Given the description of an element on the screen output the (x, y) to click on. 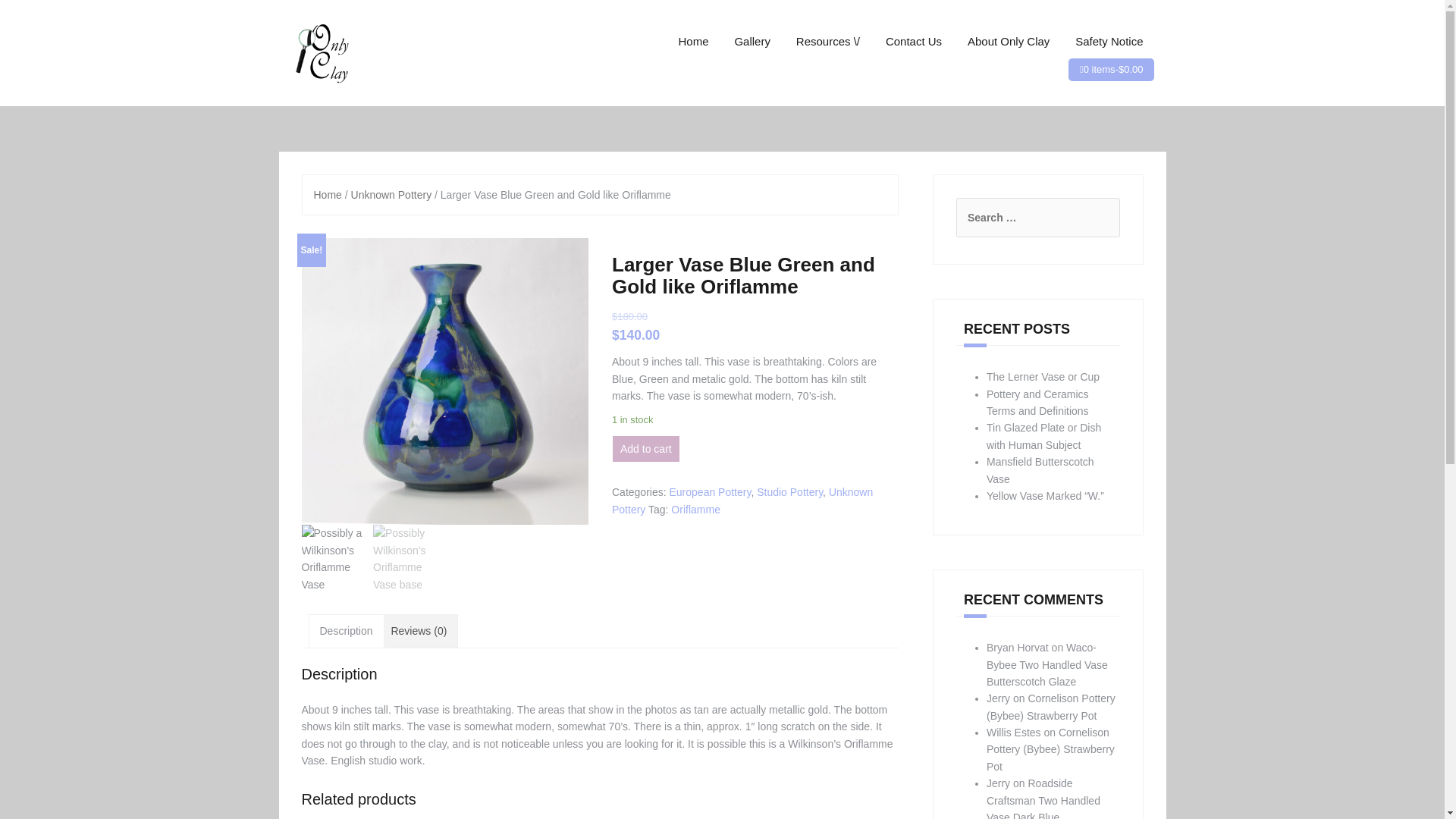
Oriflamme (695, 509)
Home (692, 41)
View your shopping cart (1112, 69)
About Only Clay (1008, 41)
Possibly a Wilkinson's Oriflamme Vase (444, 381)
Studio Pottery (789, 491)
Contact Us (913, 41)
Unknown Pottery (391, 194)
Gallery (751, 41)
Only Clay (319, 51)
